Given the description of an element on the screen output the (x, y) to click on. 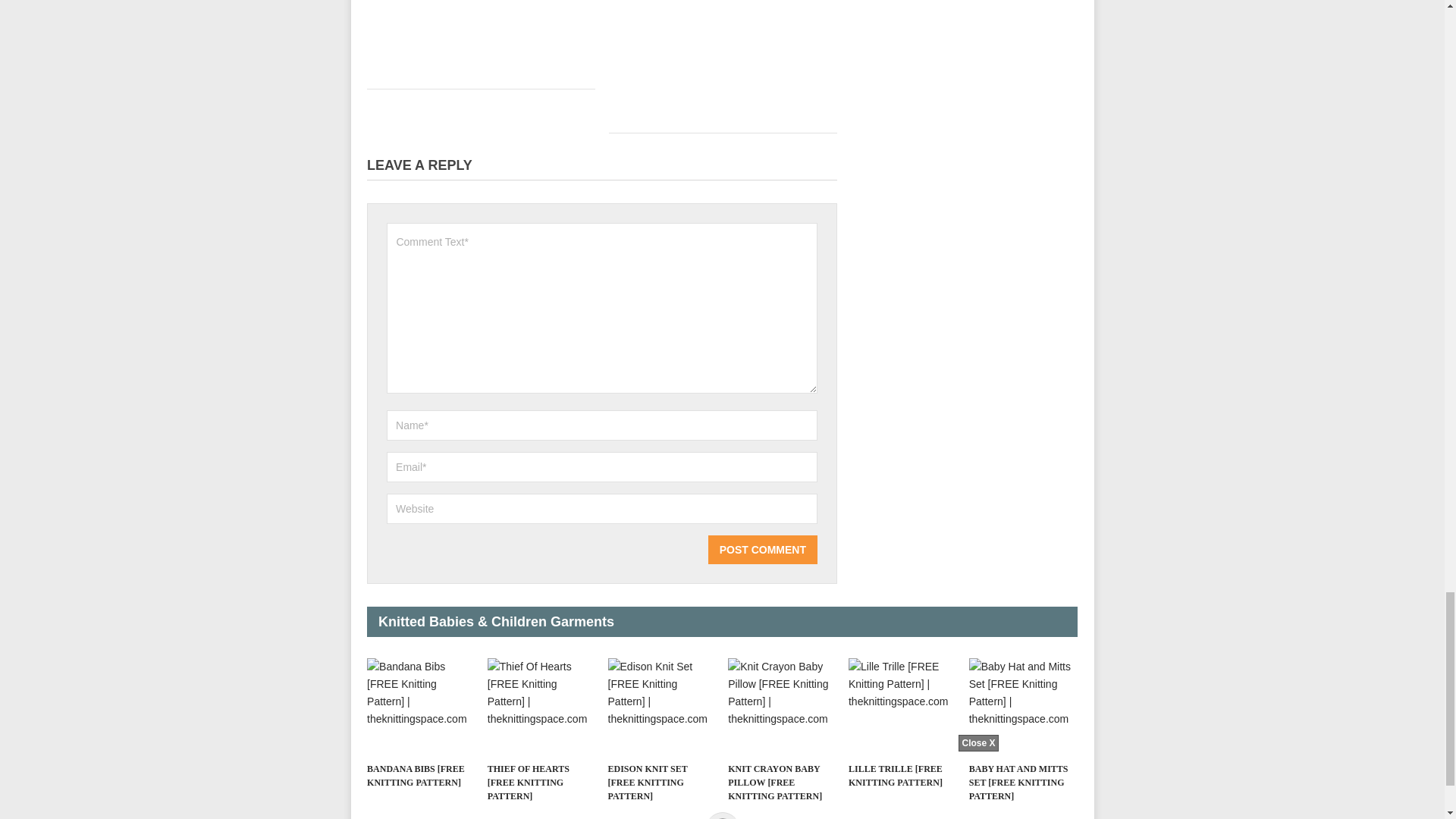
Post Comment (761, 549)
Post Comment (761, 549)
